Given the description of an element on the screen output the (x, y) to click on. 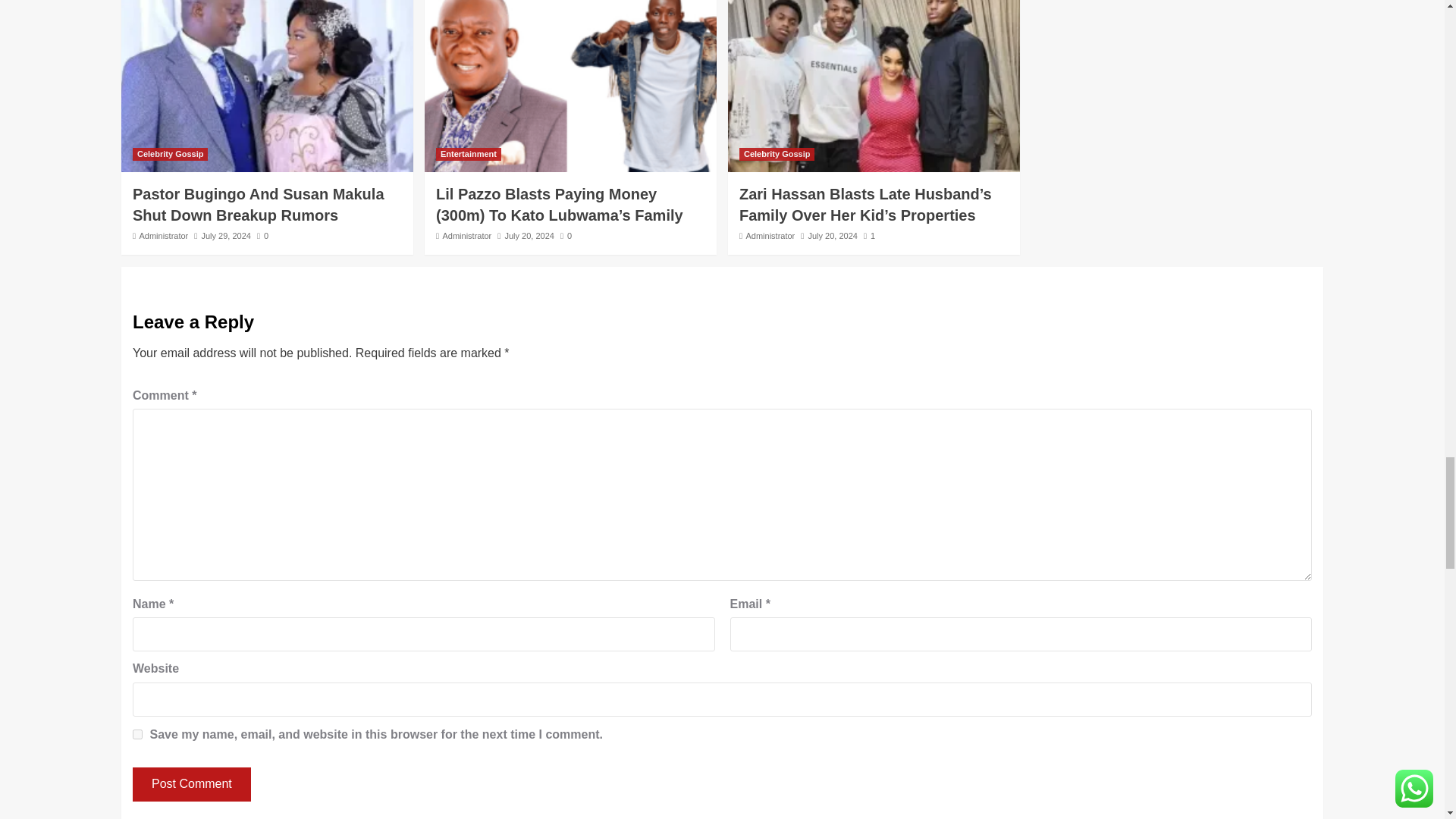
yes (137, 734)
Post Comment (191, 784)
